Given the description of an element on the screen output the (x, y) to click on. 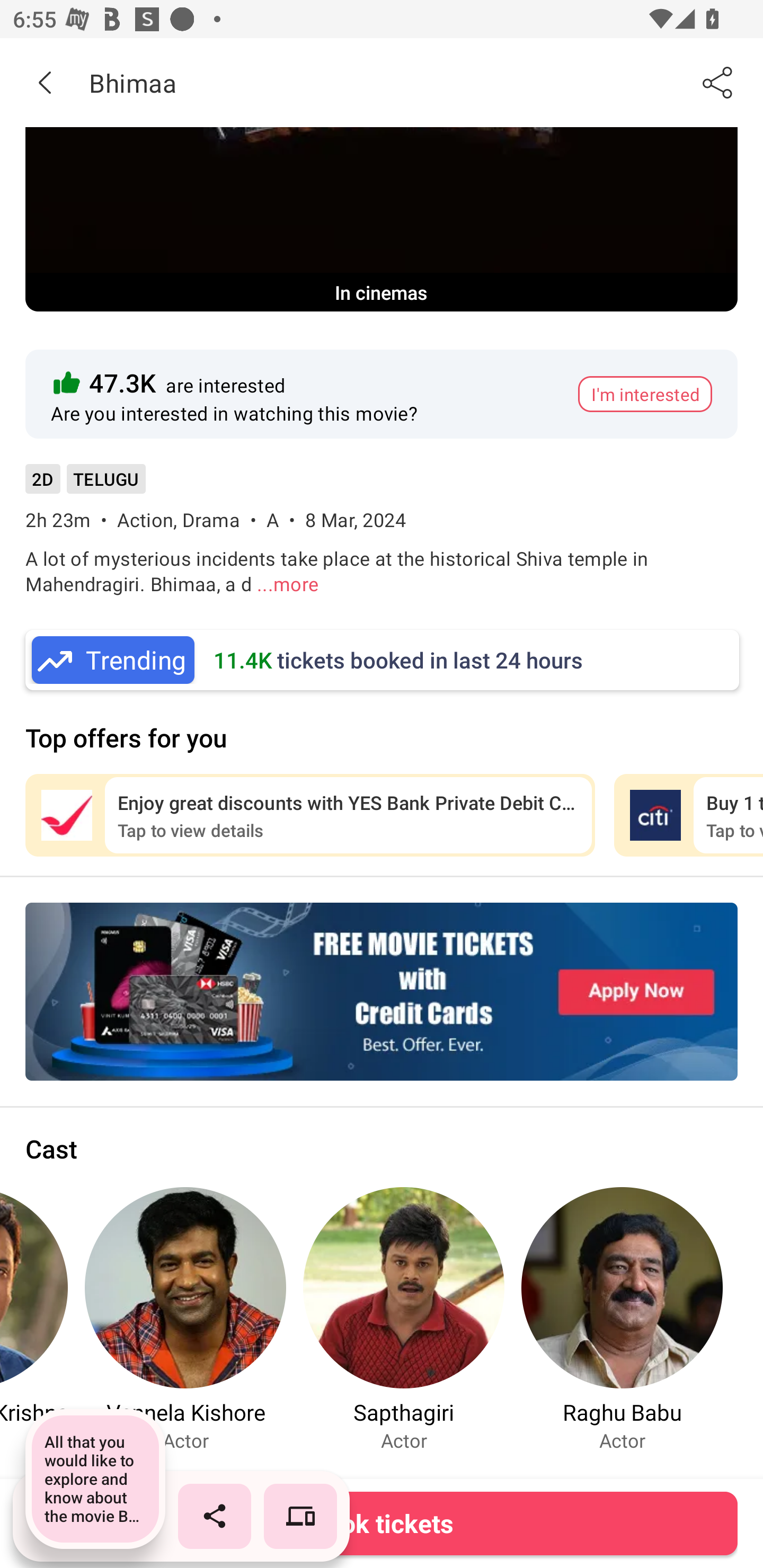
Back (44, 82)
Share (718, 82)
Movie Banner In cinemas (381, 219)
I'm interested (644, 394)
2D TELUGU (85, 485)
Vennela Kishore Actor (185, 1319)
Sapthagiri Actor (403, 1319)
Raghu Babu Actor (621, 1319)
